Given the description of an element on the screen output the (x, y) to click on. 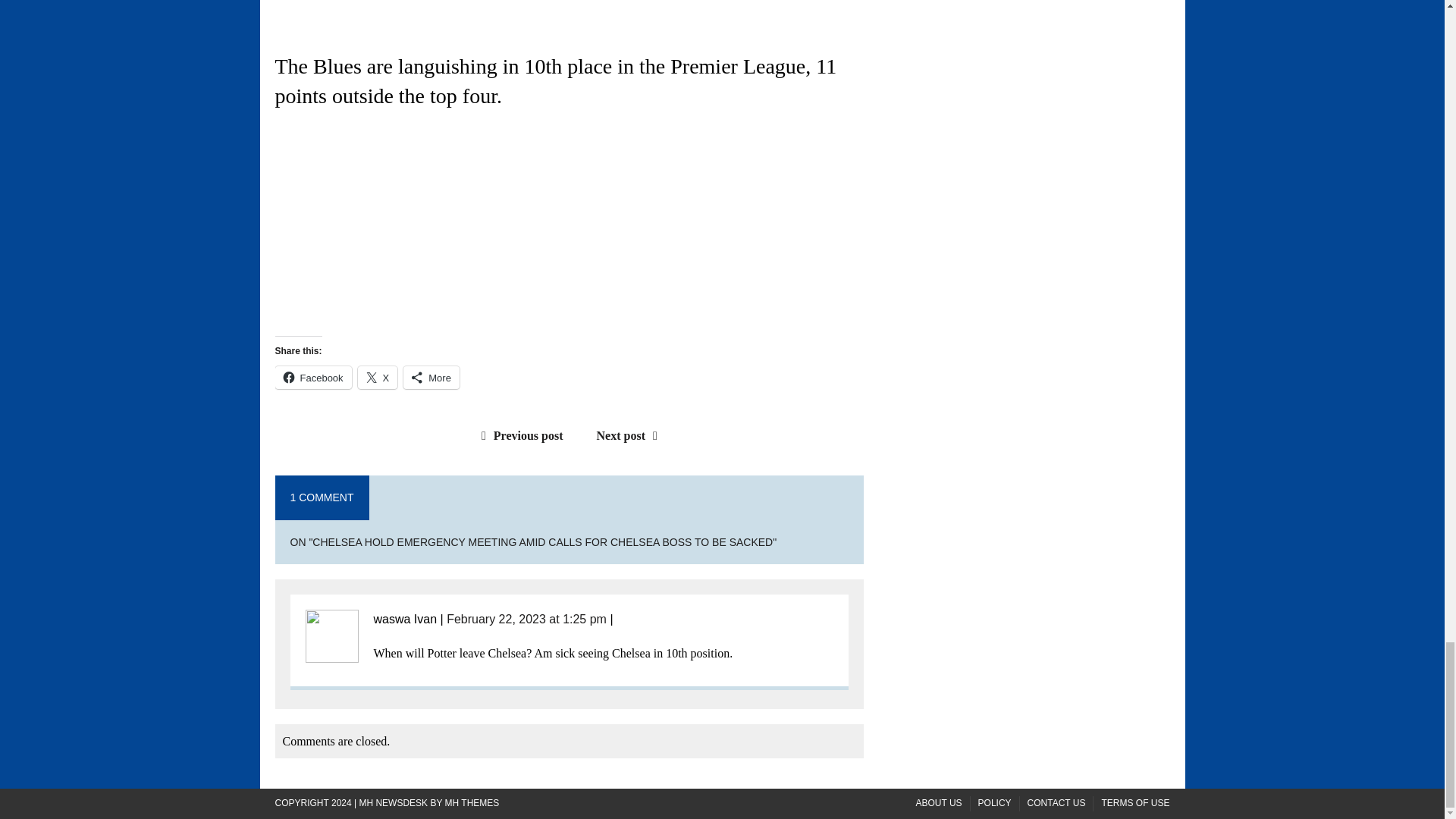
X (377, 377)
Click to share on X (377, 377)
TERMS OF USE (1134, 803)
Previous post (518, 435)
More (431, 377)
CONTACT US (1056, 803)
February 22, 2023 at 1:25 pm (526, 618)
Premium Magazine WordPress Themes (472, 802)
POLICY (994, 803)
Next post (630, 435)
